Given the description of an element on the screen output the (x, y) to click on. 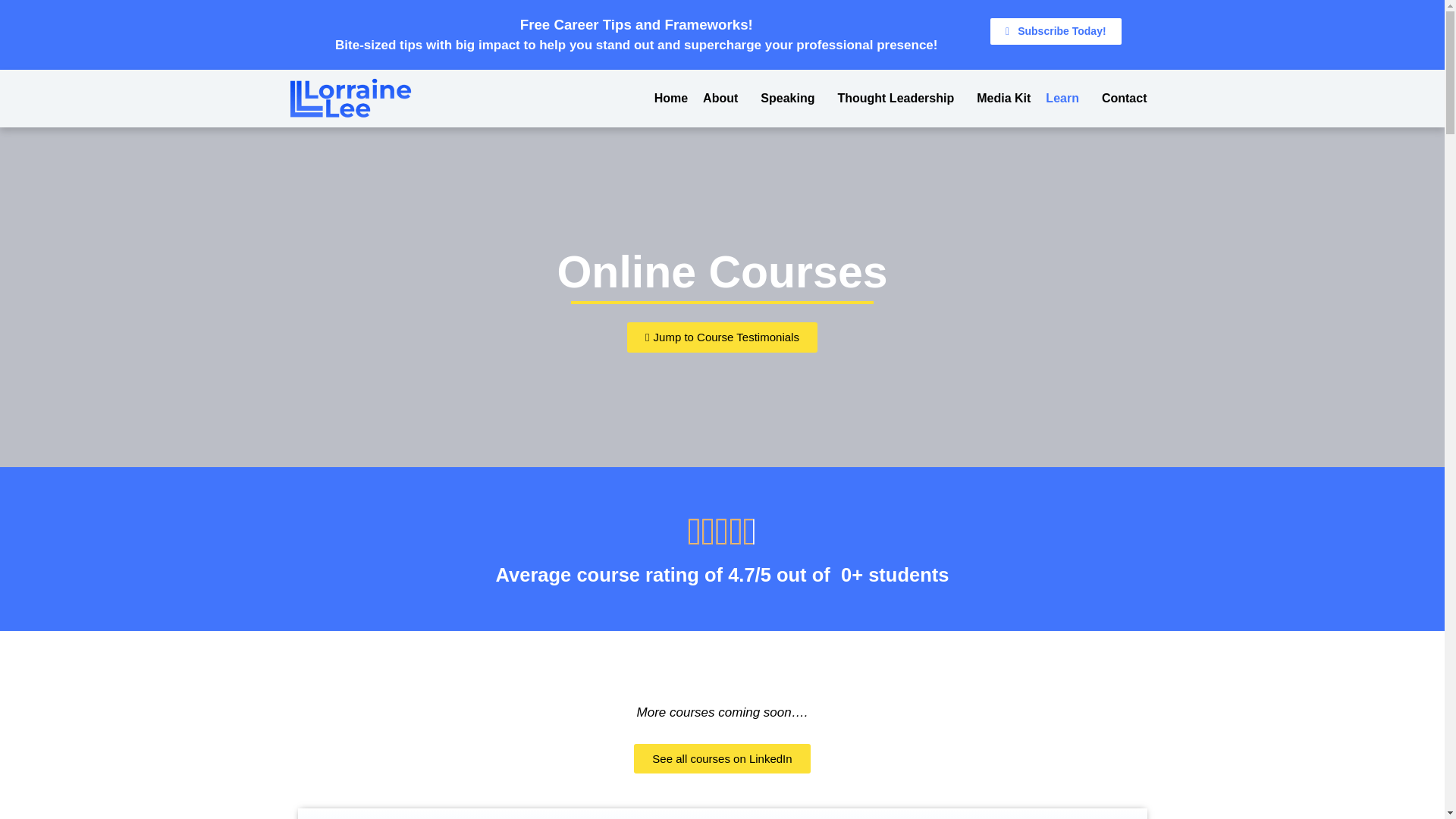
Speaking (790, 97)
Subscribe Today! (1055, 31)
Learn (1066, 97)
About (723, 97)
Media Kit (1003, 97)
Home (670, 97)
Jump to Course Testimonials (721, 337)
Contact (1124, 97)
Thought Leadership (899, 97)
